Given the description of an element on the screen output the (x, y) to click on. 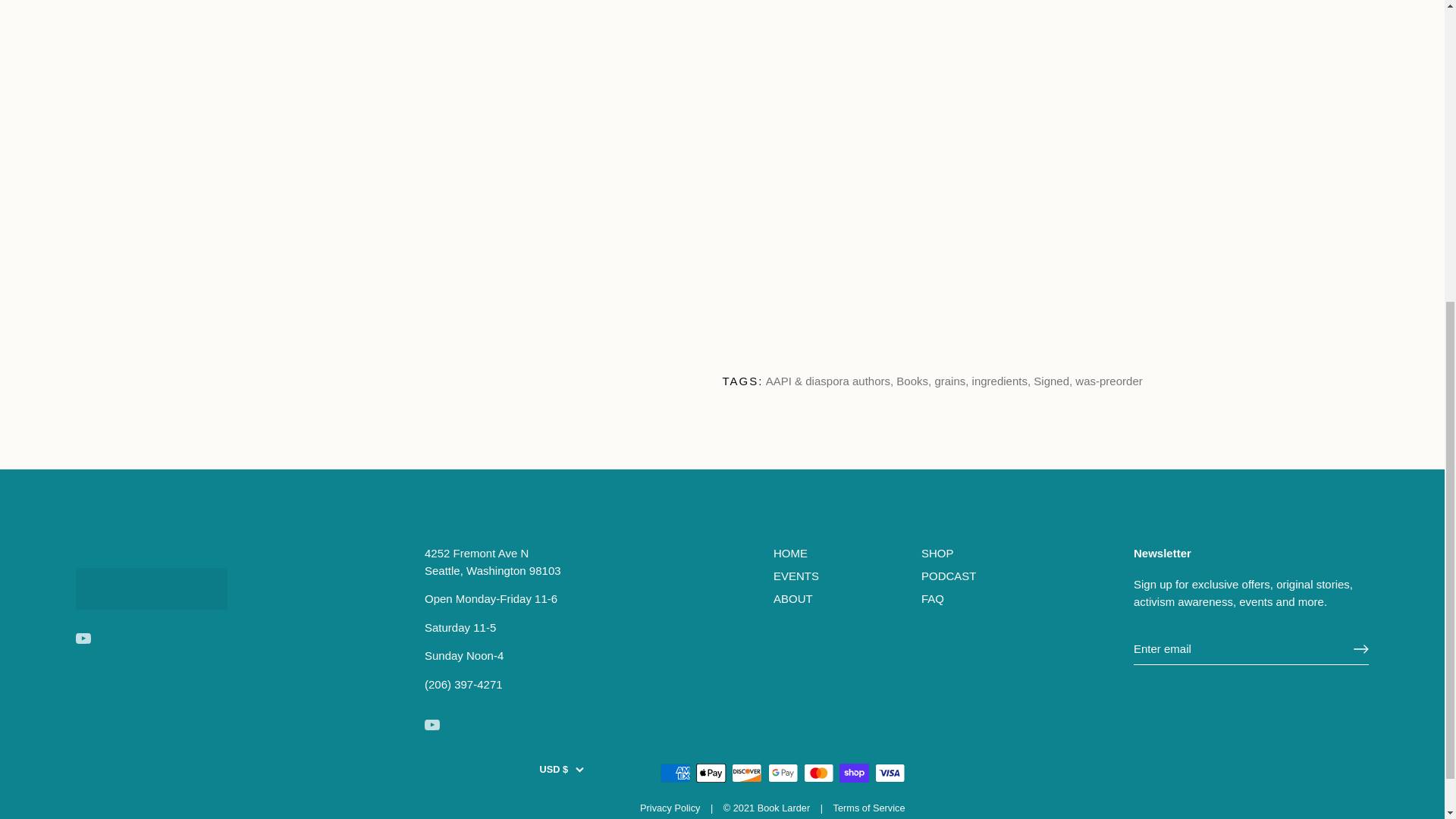
Mastercard (818, 772)
Youtube (82, 638)
Visa (890, 772)
Apple Pay (710, 772)
RIGHT ARROW LONG (1361, 648)
Discover (746, 772)
American Express (675, 772)
Youtube (432, 724)
Shop Pay (854, 772)
Google Pay (782, 772)
